Given the description of an element on the screen output the (x, y) to click on. 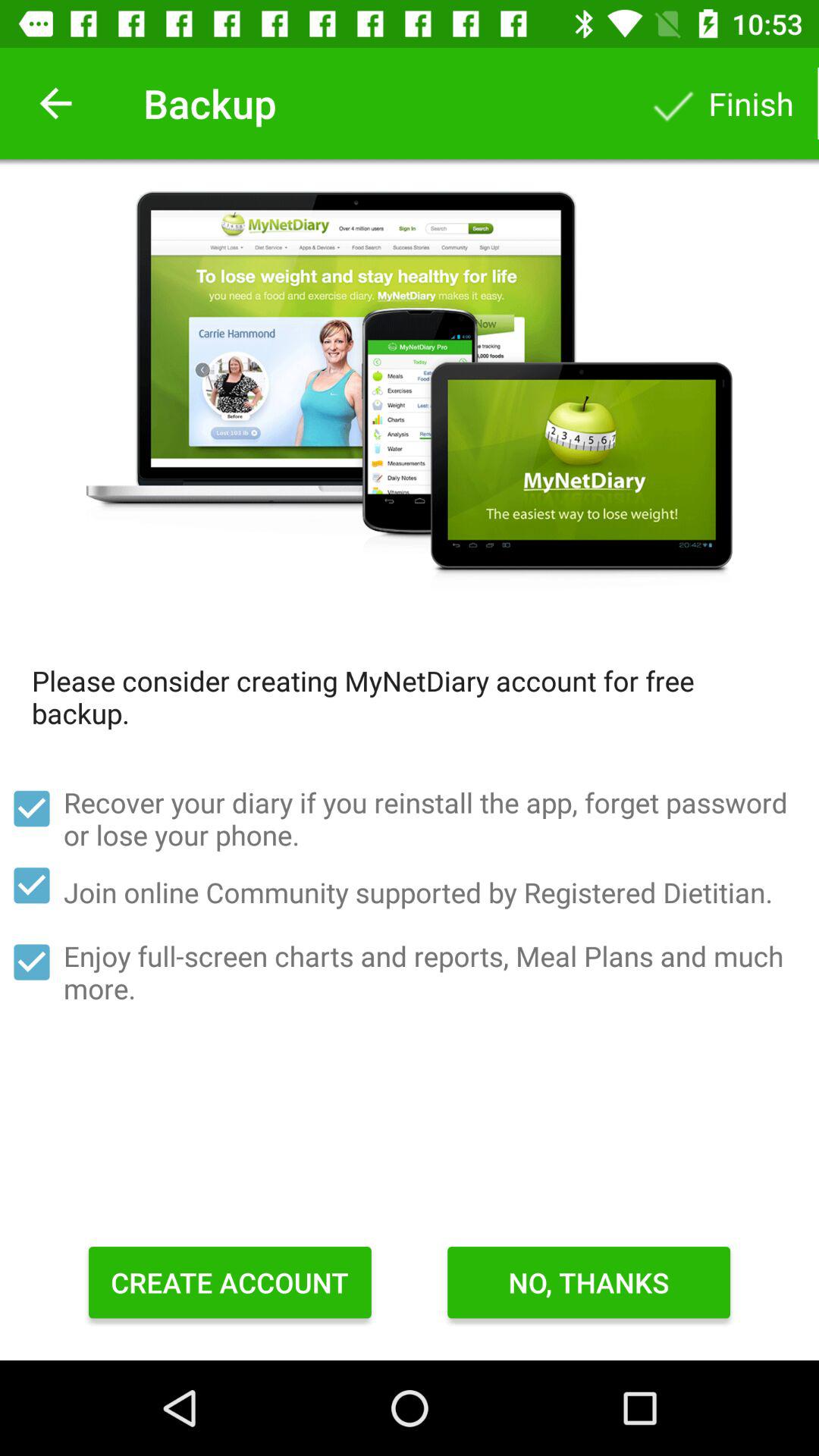
jump until the create account (229, 1282)
